Given the description of an element on the screen output the (x, y) to click on. 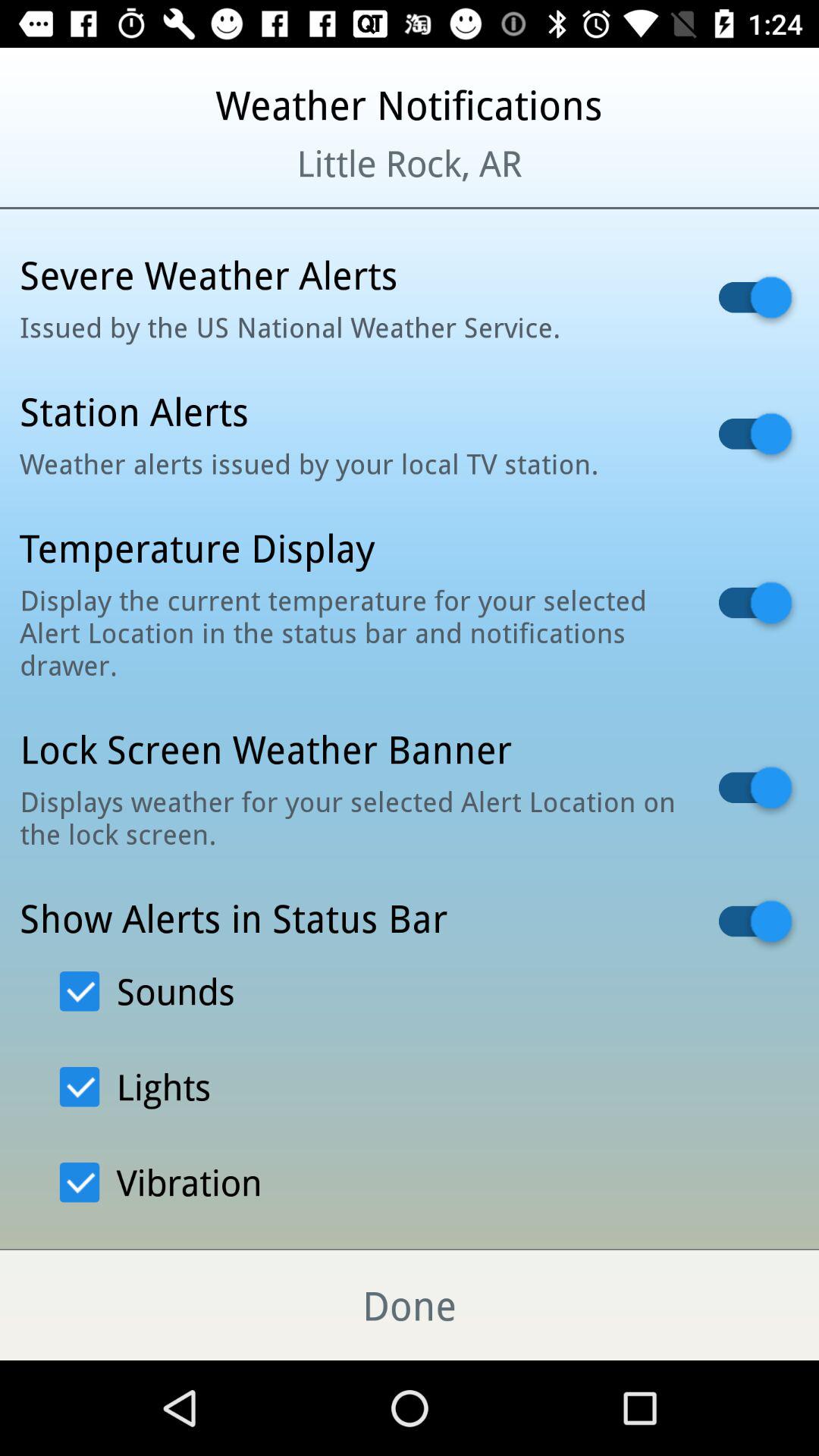
turn off icon above the lock screen weather (349, 632)
